Given the description of an element on the screen output the (x, y) to click on. 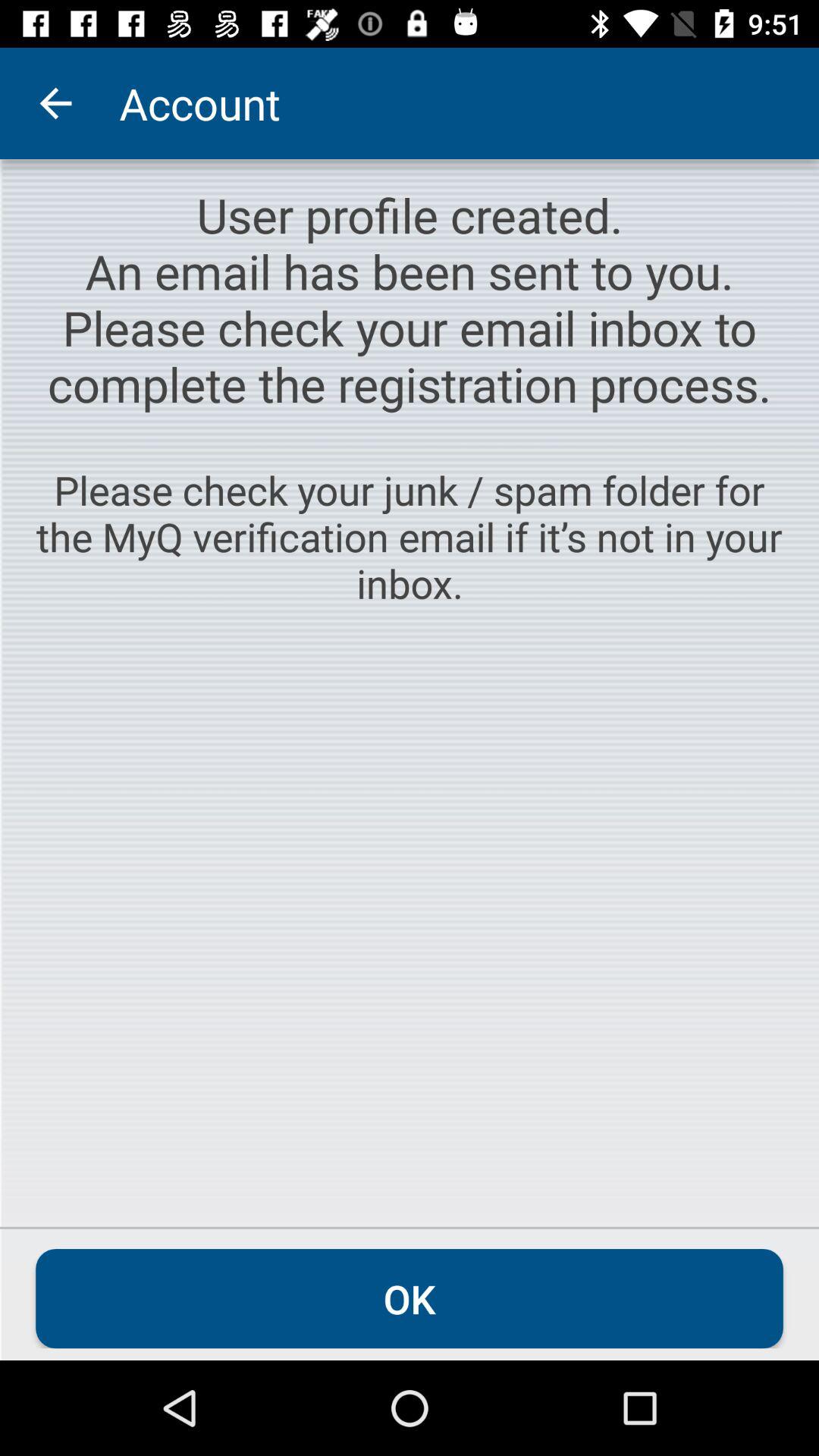
turn on item to the left of account item (55, 103)
